Given the description of an element on the screen output the (x, y) to click on. 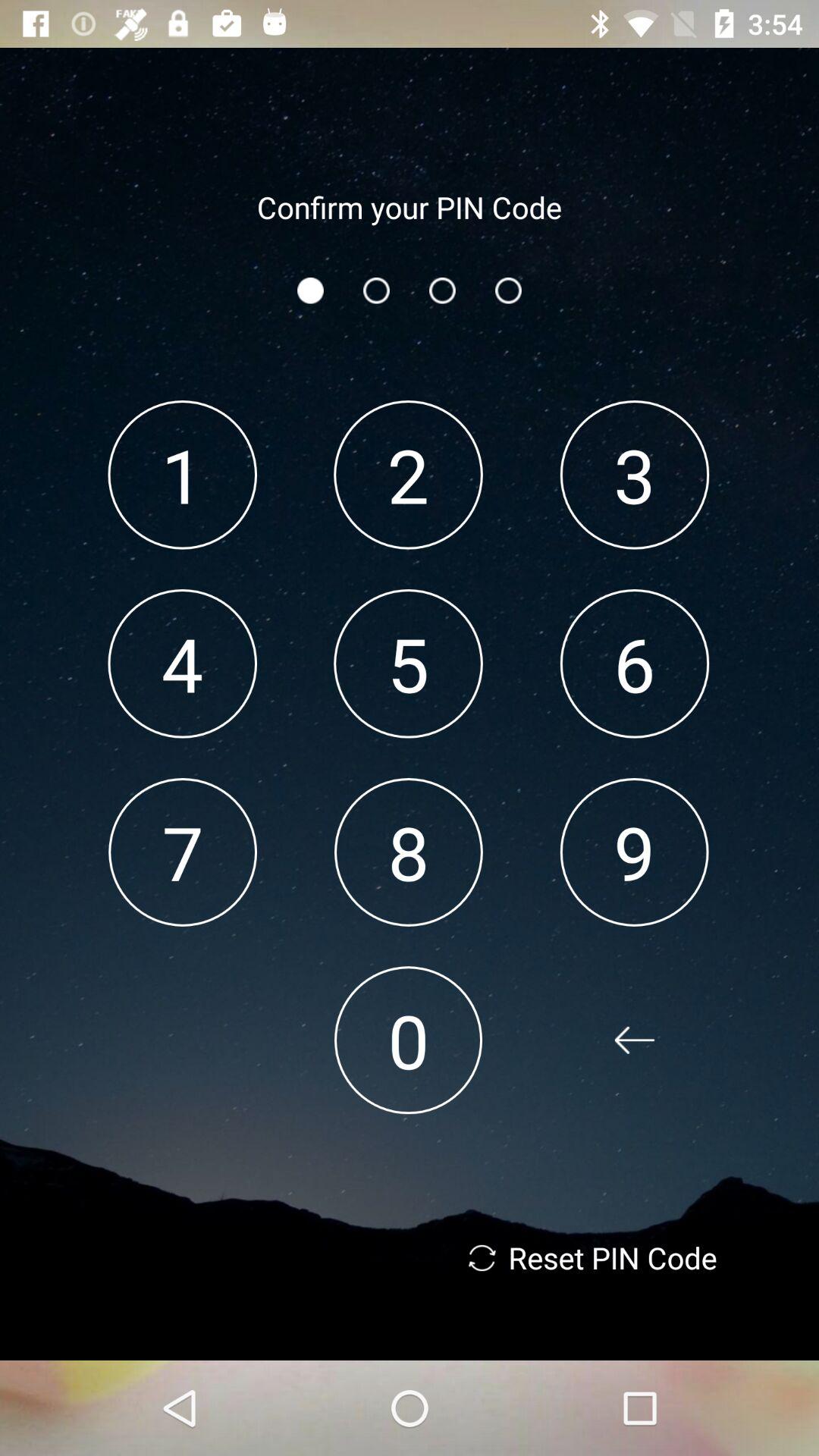
choose the icon below 6 app (634, 852)
